Given the description of an element on the screen output the (x, y) to click on. 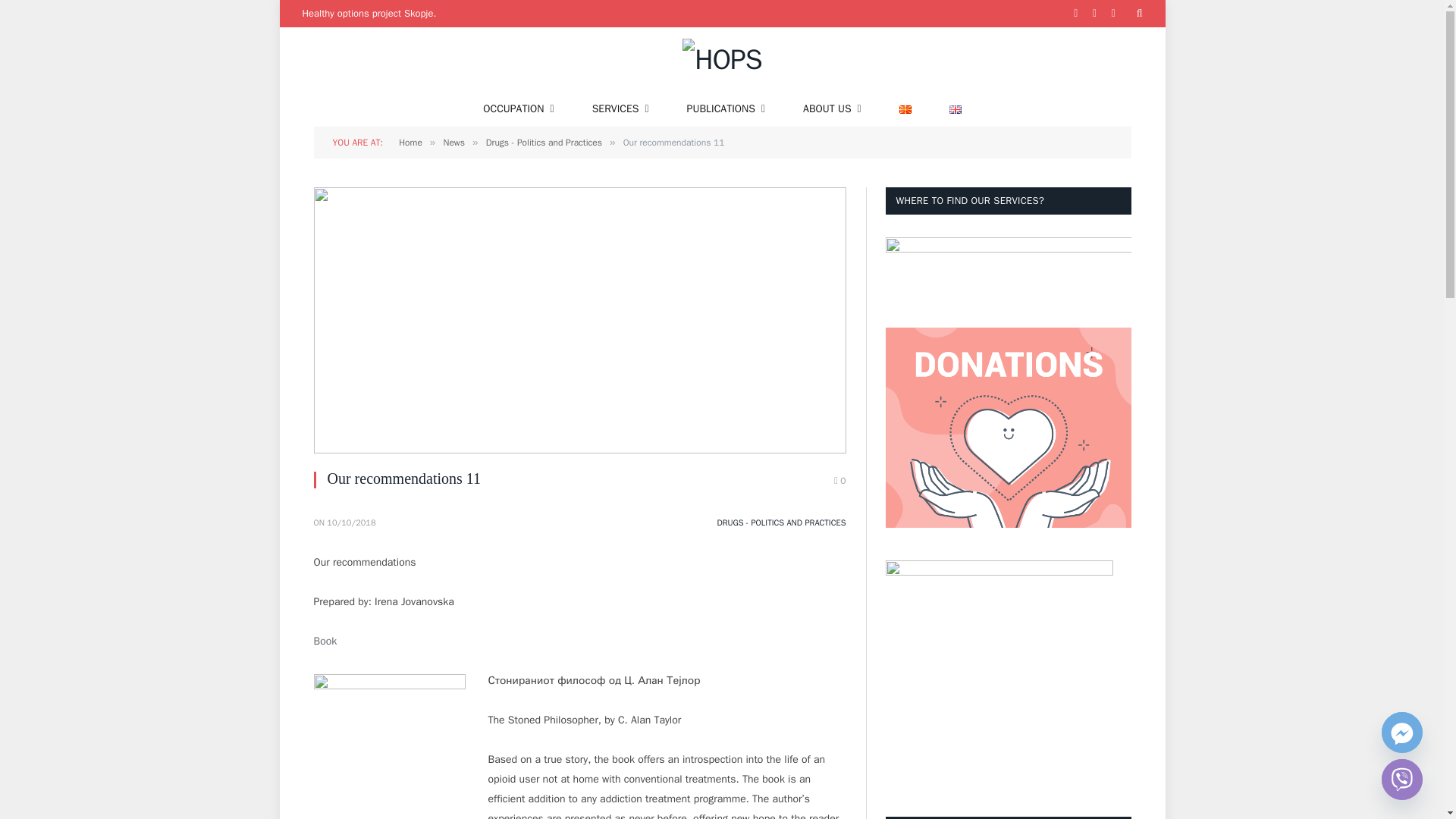
HOPS (721, 59)
2018-10-10 (350, 521)
News (453, 142)
ABOUT US (832, 108)
OCCUPATION (518, 108)
Drugs - Politics and Practices (544, 142)
SERVICES (620, 108)
PUBLICATIONS (726, 108)
Home (410, 142)
